Given the description of an element on the screen output the (x, y) to click on. 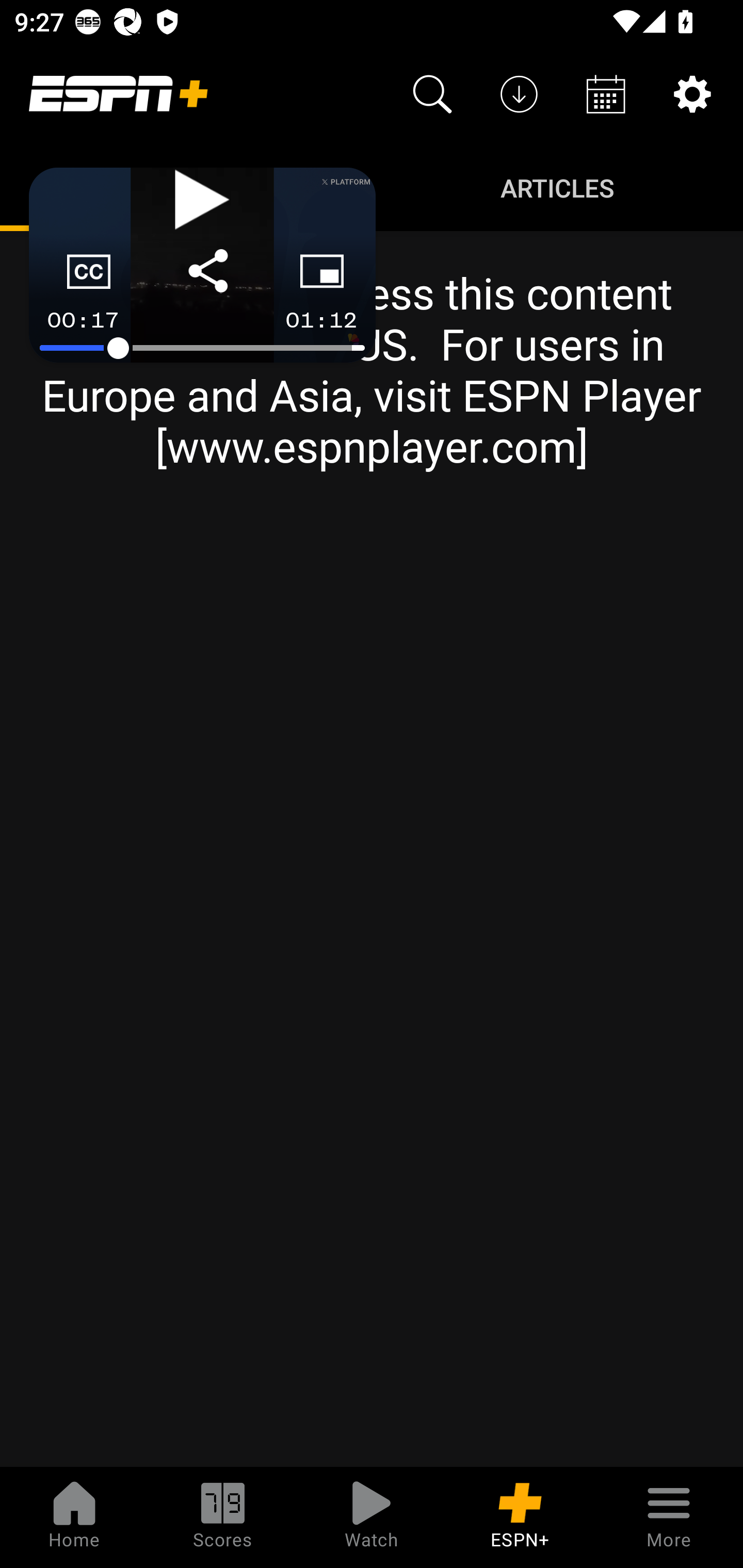
Search (432, 93)
Downloads (518, 93)
Schedule (605, 93)
Settings (692, 93)
Articles ARTICLES (557, 187)
Home (74, 1517)
Scores (222, 1517)
Watch (371, 1517)
More (668, 1517)
